Given the description of an element on the screen output the (x, y) to click on. 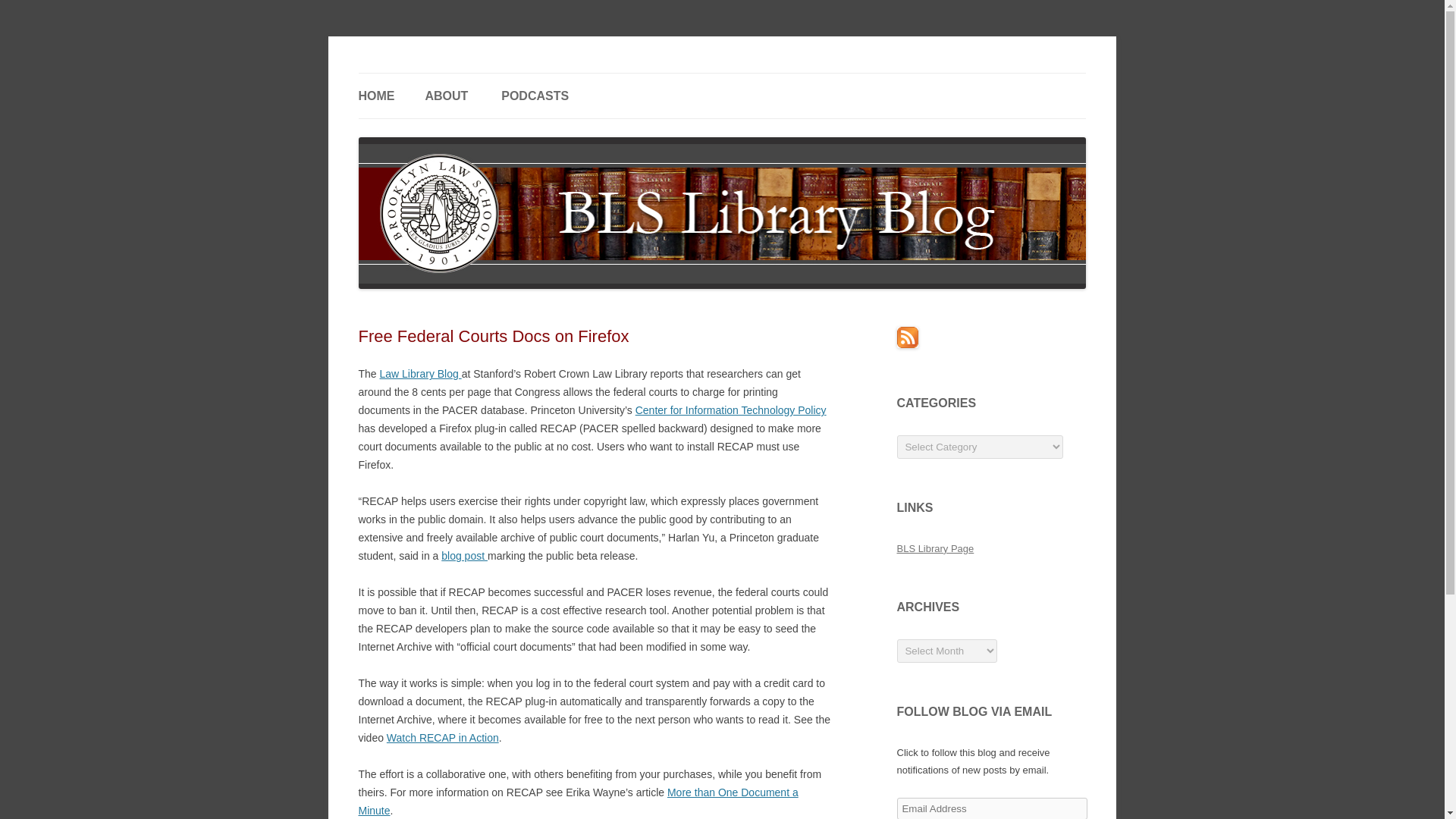
Law Library Blog (420, 373)
Skip to content (757, 77)
Subscribe to posts (906, 344)
BLS Library Page (935, 548)
Watch RECAP in Action (443, 737)
PODCASTS (534, 95)
ABOUT (446, 95)
BLS Library Blog (438, 72)
BLS Library Blog (438, 72)
Skip to content (757, 77)
